Given the description of an element on the screen output the (x, y) to click on. 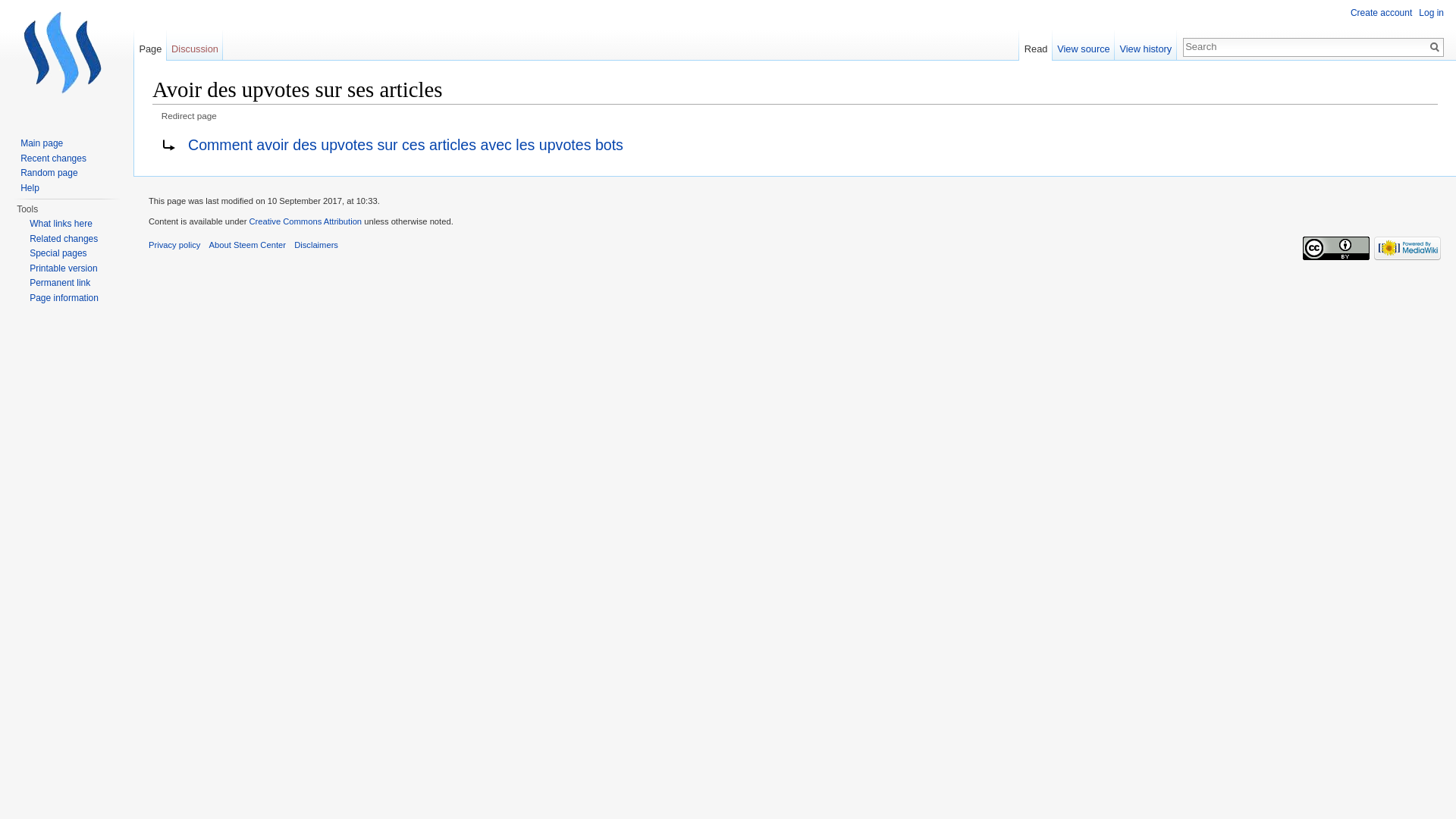
What links here Element type: text (60, 223)
Search Steem Center [alt-shift-f] Element type: hover (1304, 45)
Visit the main page Element type: hover (66, 60)
Permanent link Element type: text (59, 282)
Page information Element type: text (63, 297)
Read Element type: text (1035, 45)
Go Element type: text (1434, 46)
Random page Element type: text (48, 172)
Discussion Element type: text (194, 45)
View source Element type: text (1083, 45)
Page Element type: text (150, 45)
Printable version Element type: text (63, 267)
Main page Element type: text (41, 143)
Privacy policy Element type: text (174, 244)
Help Element type: text (29, 187)
About Steem Center Element type: text (247, 244)
Create account Element type: text (1381, 12)
Special pages Element type: text (57, 252)
View history Element type: text (1145, 45)
Recent changes Element type: text (53, 158)
Go to a page with this exact name if it exists Element type: hover (1434, 46)
Log in Element type: text (1430, 12)
Related changes Element type: text (63, 238)
Disclaimers Element type: text (316, 244)
Creative Commons Attribution Element type: text (304, 220)
